Given the description of an element on the screen output the (x, y) to click on. 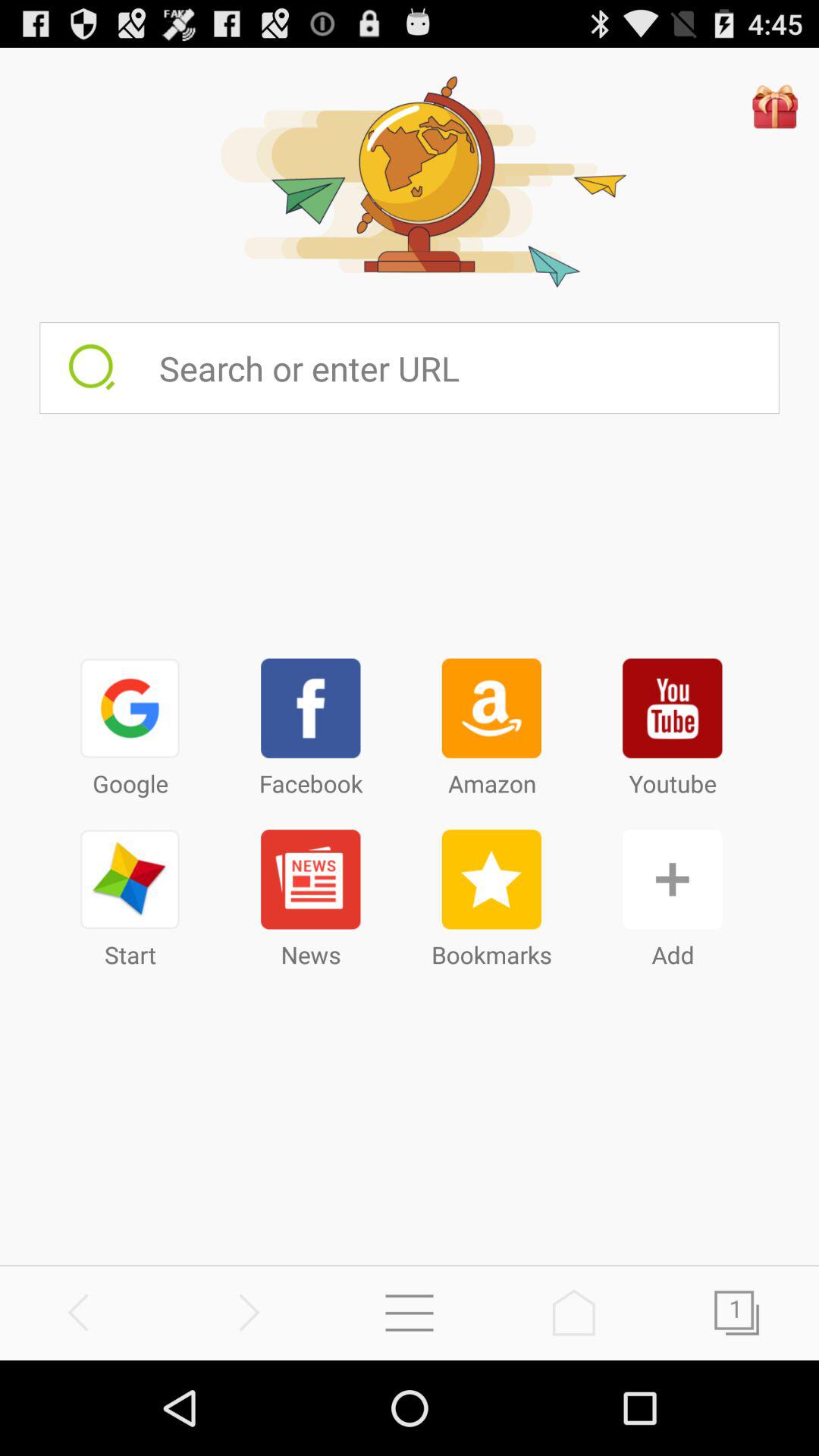
search (81, 1312)
